Given the description of an element on the screen output the (x, y) to click on. 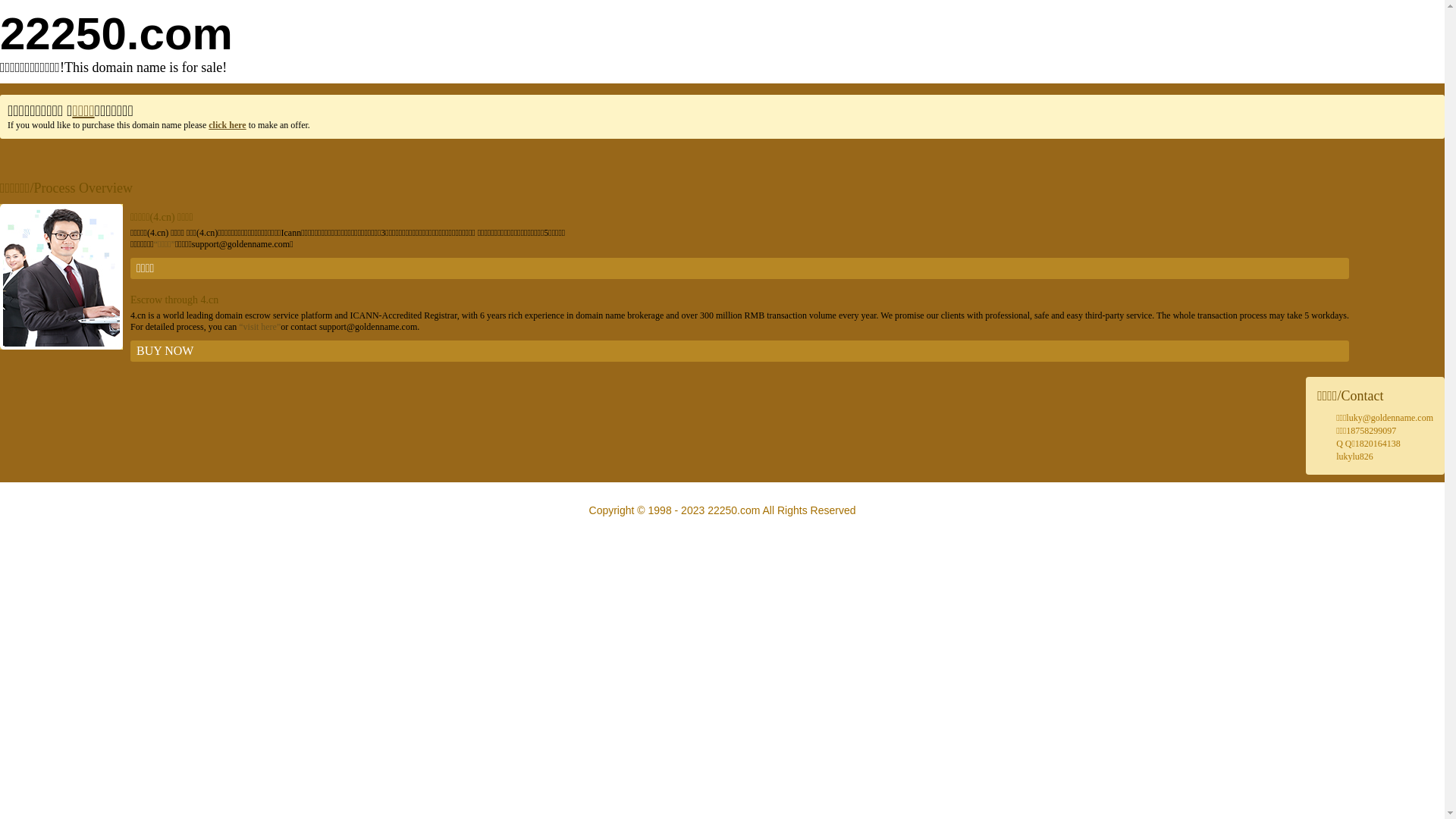
click here Element type: text (226, 124)
BUY NOW Element type: text (739, 350)
